Given the description of an element on the screen output the (x, y) to click on. 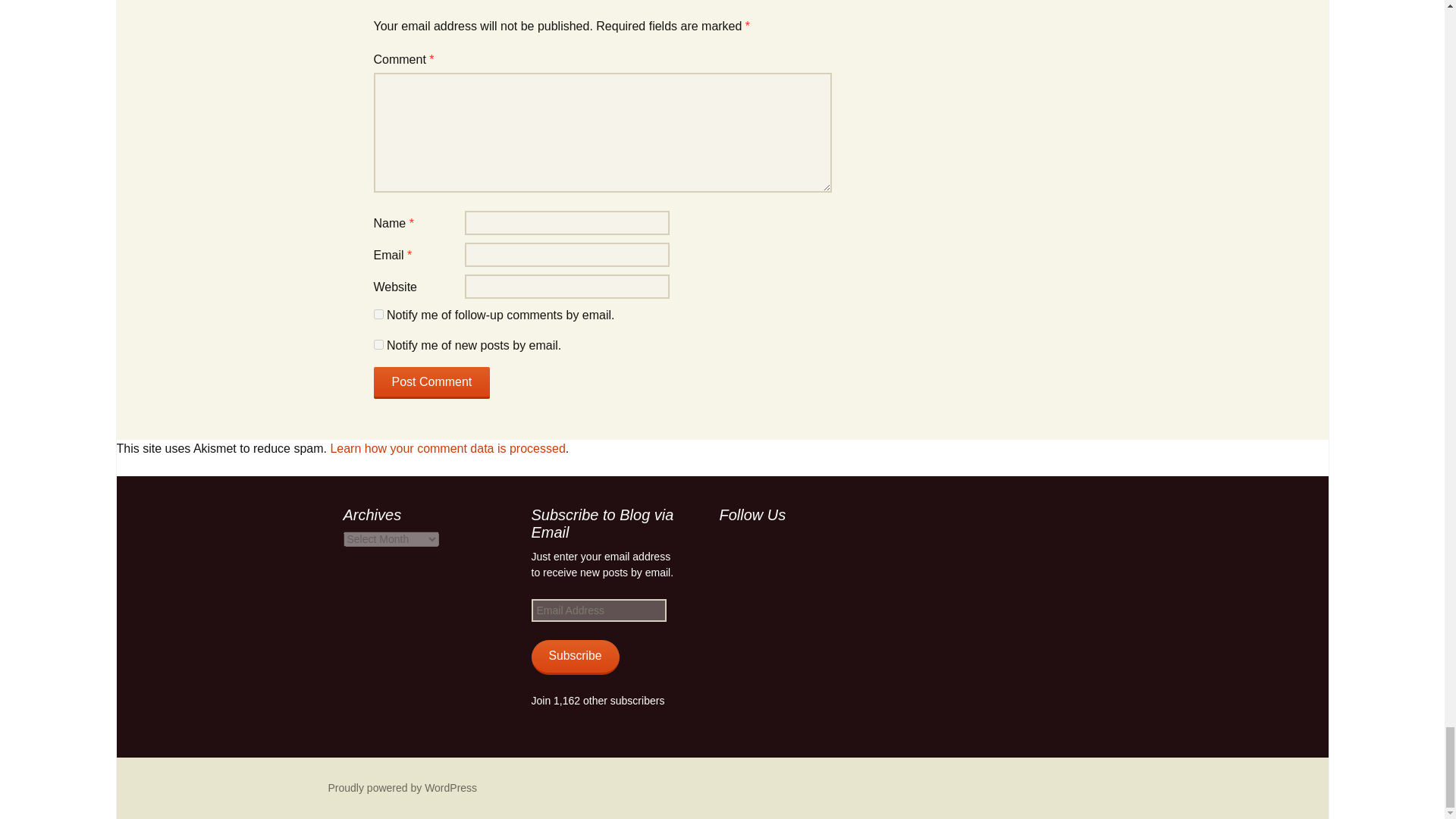
Post Comment (430, 382)
subscribe (377, 344)
subscribe (377, 314)
